Given the description of an element on the screen output the (x, y) to click on. 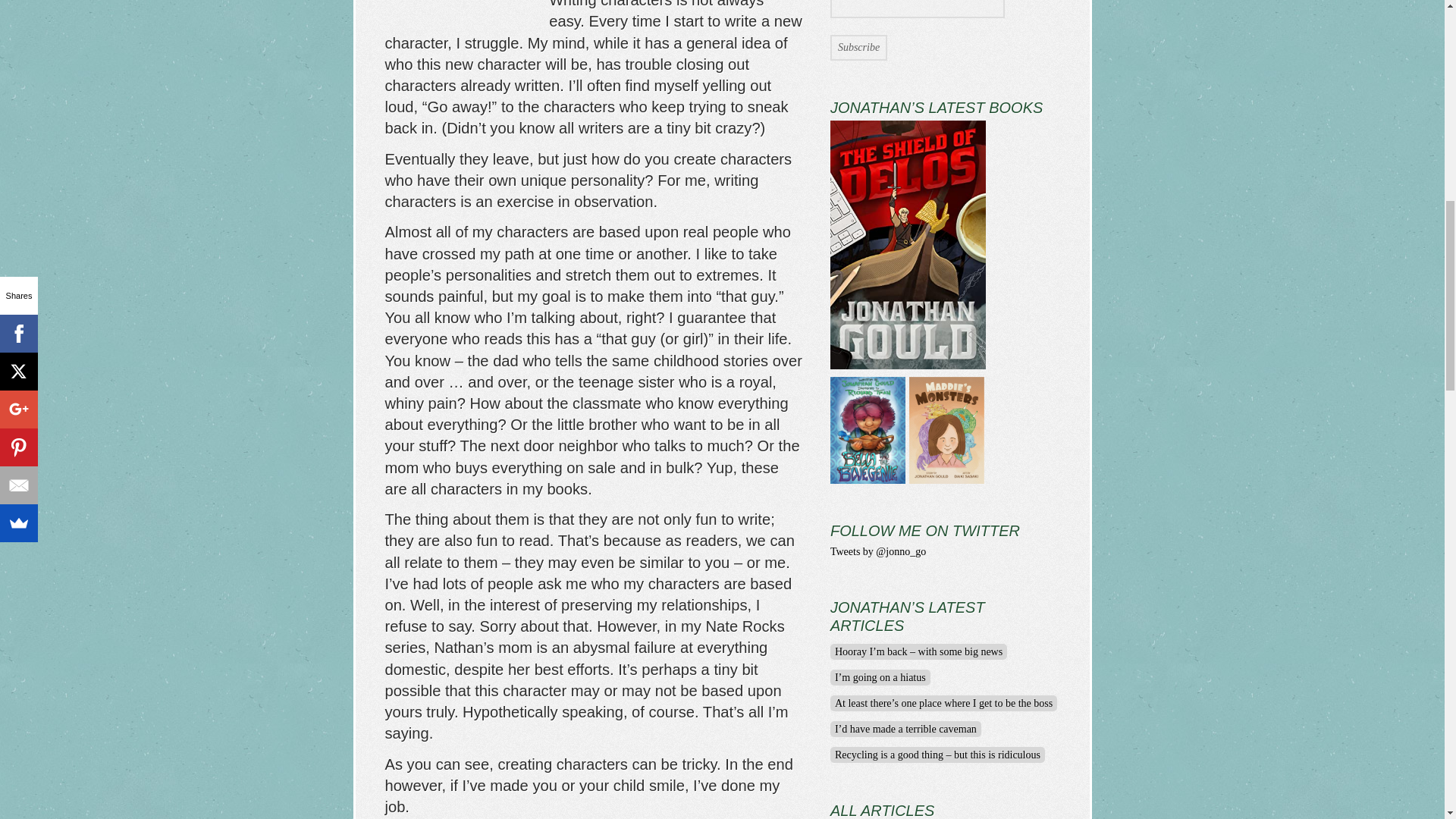
Subscribe (857, 47)
